Given the description of an element on the screen output the (x, y) to click on. 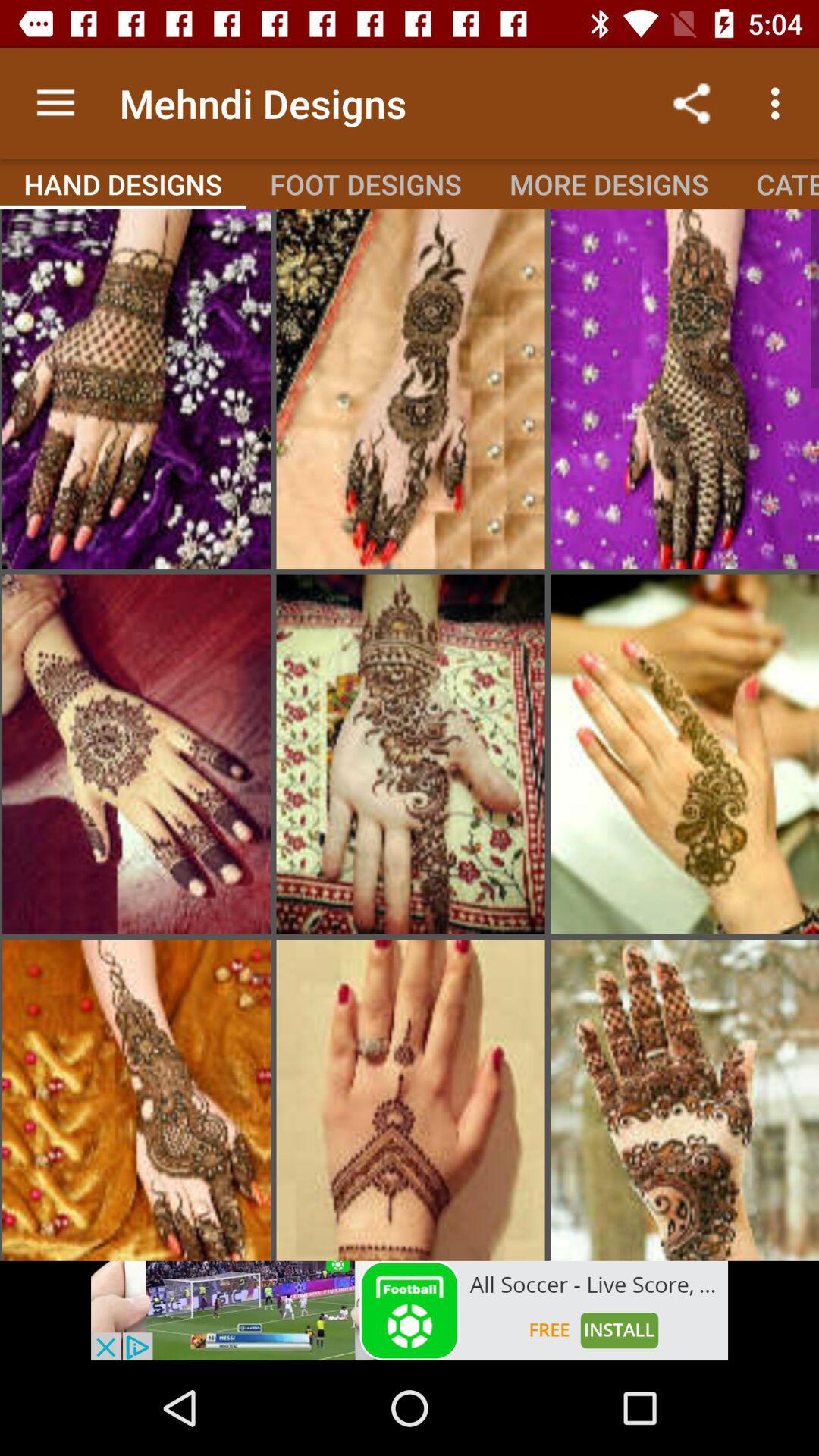
select that photo (136, 388)
